Given the description of an element on the screen output the (x, y) to click on. 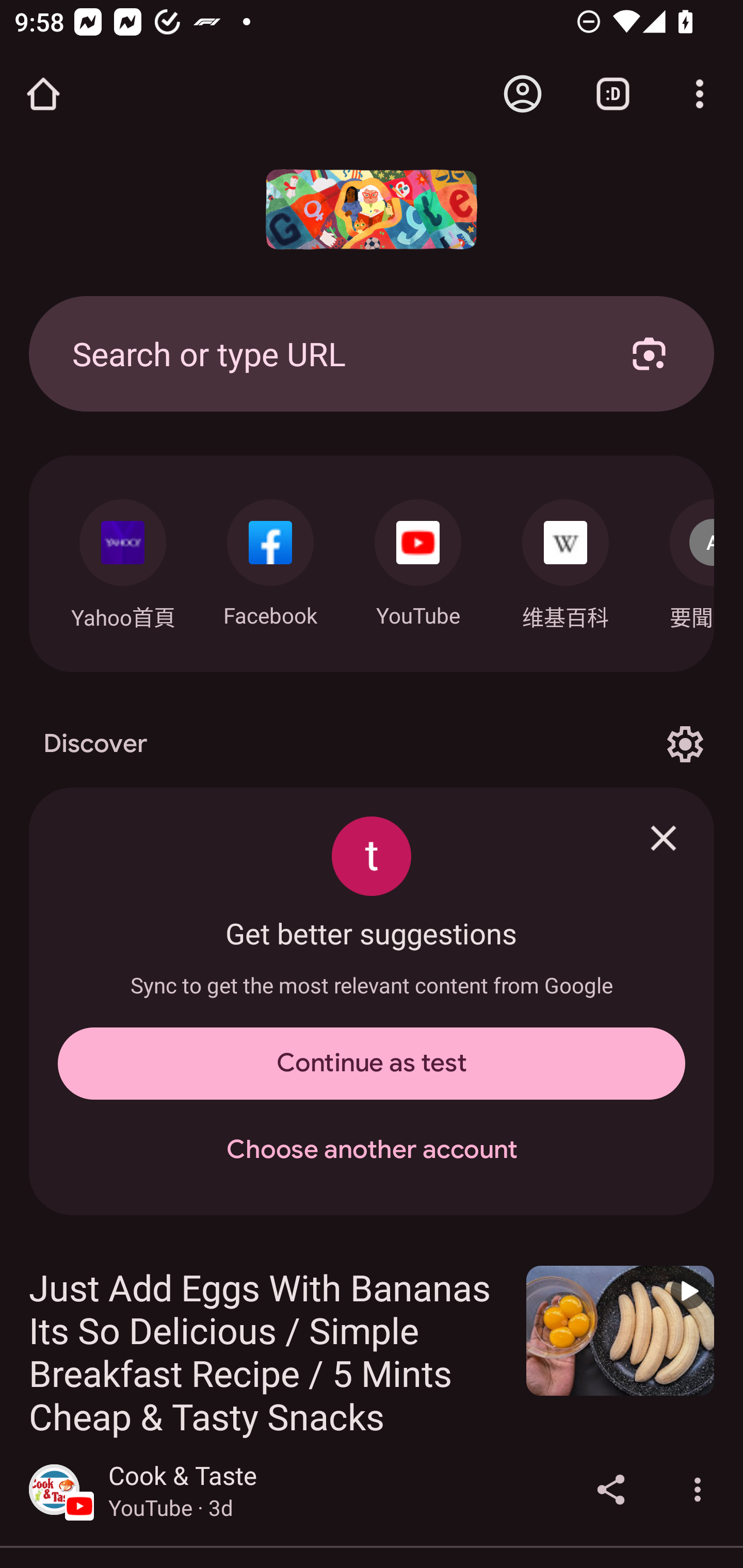
Open the home page (43, 93)
Switch or close tabs (612, 93)
Customize and control Google Chrome (699, 93)
Google doodle: 2024 年国际妇女节 (371, 209)
Search or type URL (327, 353)
Search with your camera using Google Lens (648, 353)
Navigate: Yahoo首頁: hk.mobi.yahoo.com Yahoo首頁 (122, 558)
Navigate: Facebook: m.facebook.com Facebook (270, 558)
Navigate: YouTube: m.youtube.com YouTube (417, 558)
Navigate: 维基百科: zh.m.wikipedia.org 维基百科 (565, 558)
Options for Discover (684, 743)
Close (663, 837)
Continue as test (371, 1063)
Choose another account (371, 1150)
